Given the description of an element on the screen output the (x, y) to click on. 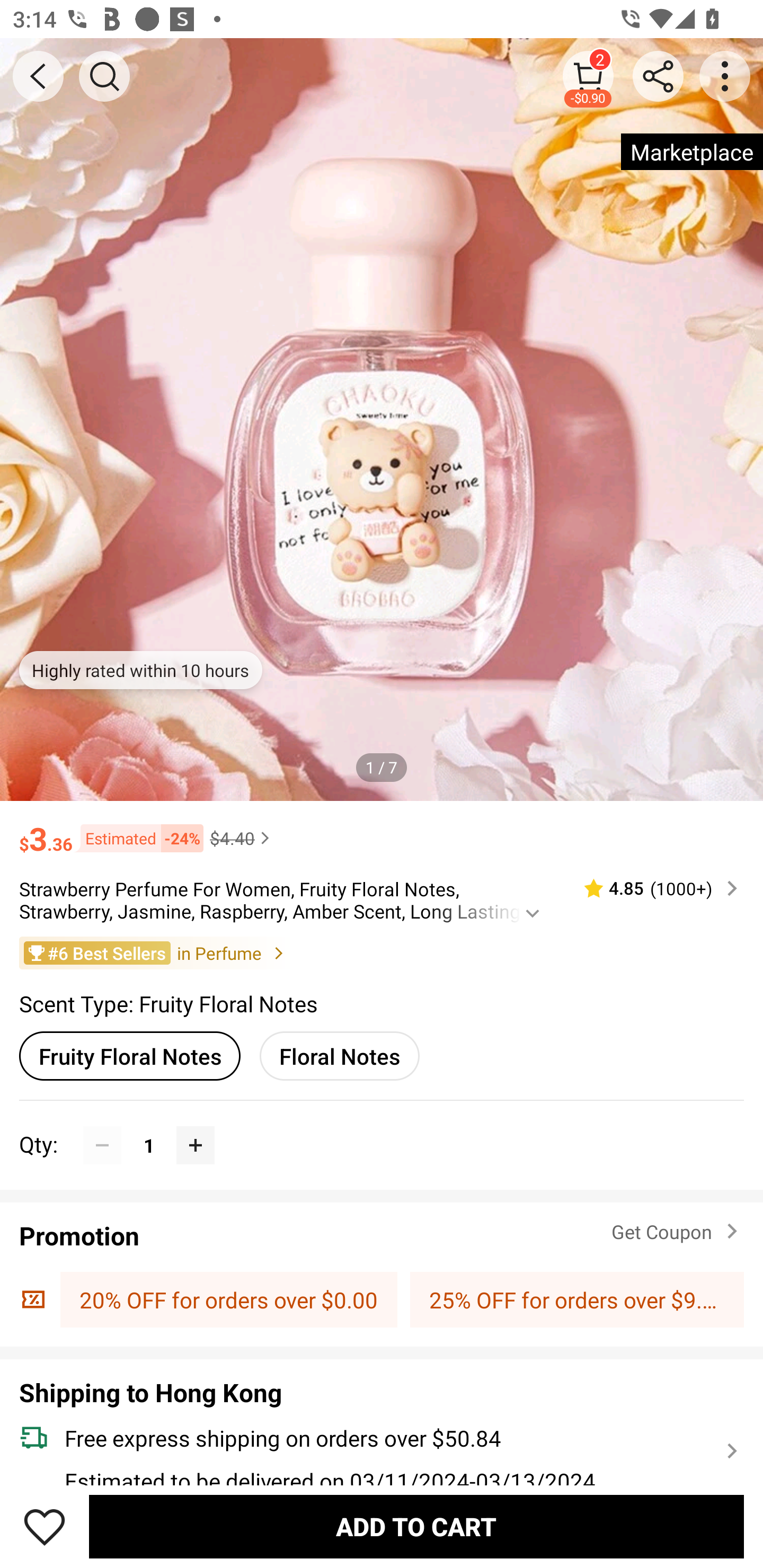
BACK (38, 75)
2 -$0.90 (588, 75)
1 / 7 (381, 766)
$3.36 Estimated -24% $4.40 (381, 830)
Estimated -24% (137, 838)
$4.40 (241, 837)
4.85 (1000‎+) (653, 887)
#6 Best Sellers in Perfume (381, 952)
Scent Type: Fruity Floral Notes (168, 1003)
Floral Notes Floral Notesunselected option (339, 1055)
Qty: 1 (381, 1125)
ADD TO CART (416, 1526)
Save (44, 1526)
